Given the description of an element on the screen output the (x, y) to click on. 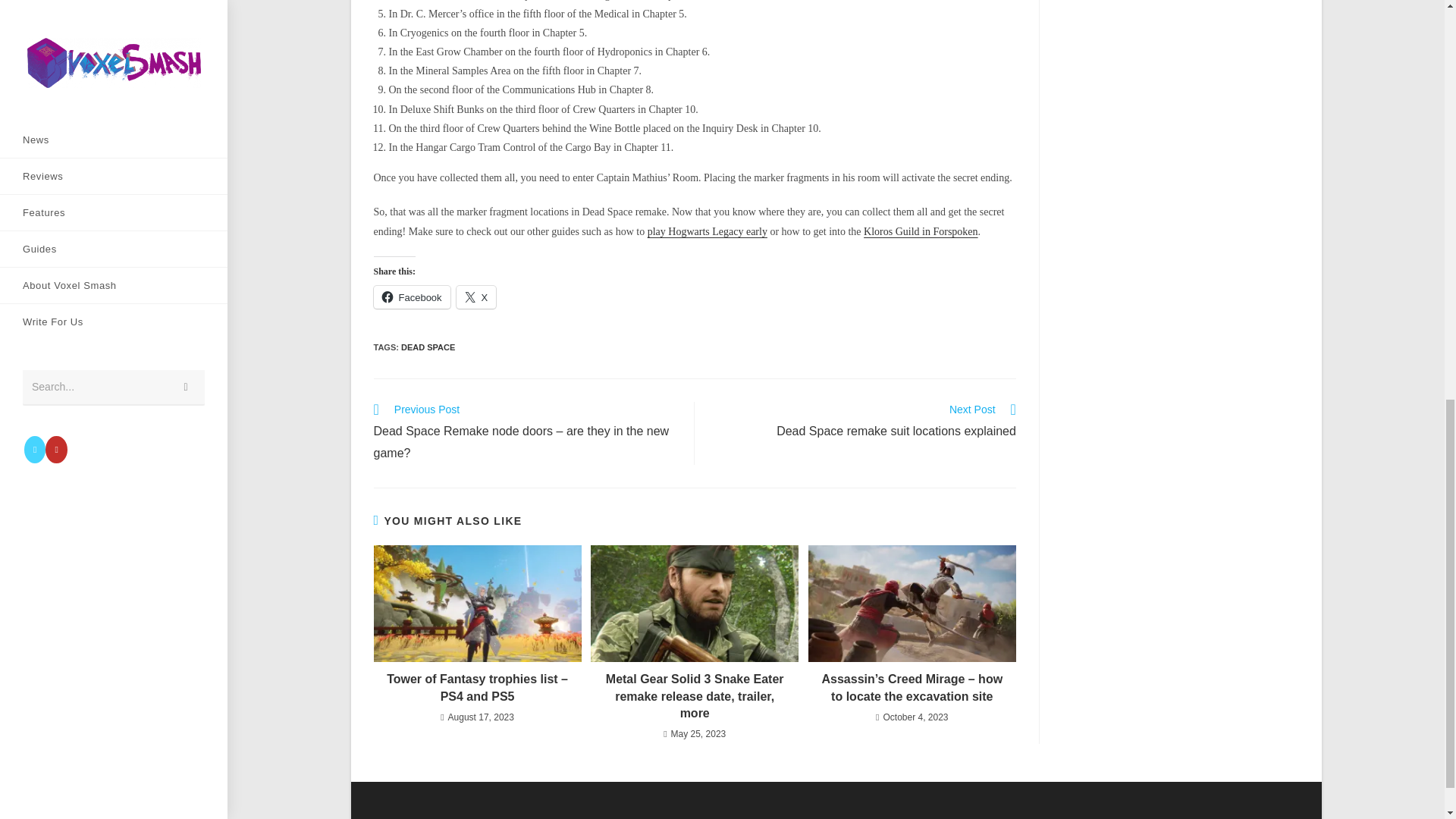
play Hogwarts Legacy early (707, 231)
Click to share on Facebook (410, 296)
Kloros Guild in Forspoken (920, 231)
DEAD SPACE (863, 422)
X (427, 347)
Click to share on X (476, 296)
Facebook (476, 296)
